Given the description of an element on the screen output the (x, y) to click on. 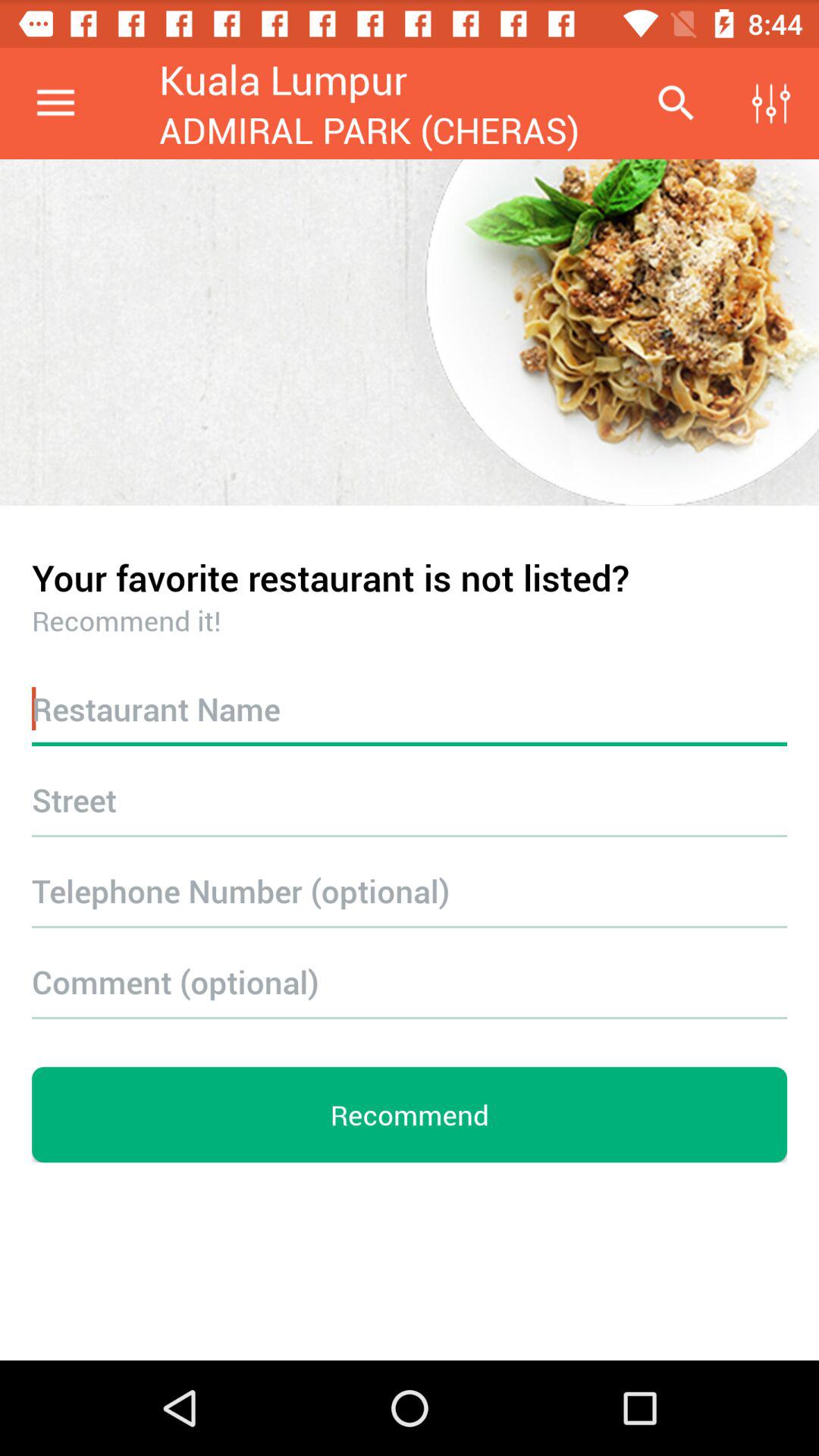
add a comment (409, 981)
